Given the description of an element on the screen output the (x, y) to click on. 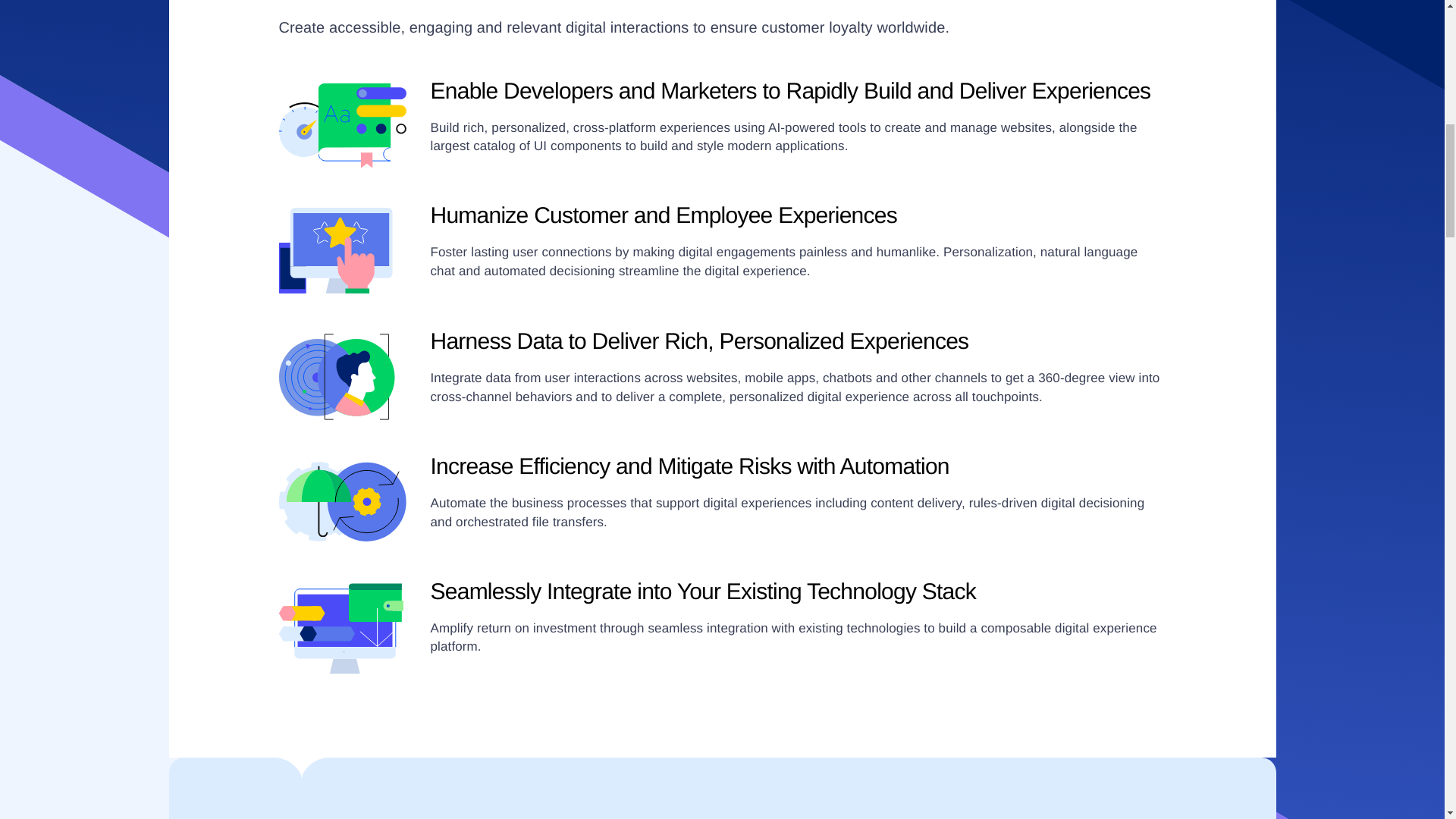
enhance-efficiency-icon (343, 501)
harness-data-icon (343, 376)
high-impact-icon (343, 125)
humanize-customer-icon (343, 250)
seamlessly-integrate-icon (343, 626)
